Given the description of an element on the screen output the (x, y) to click on. 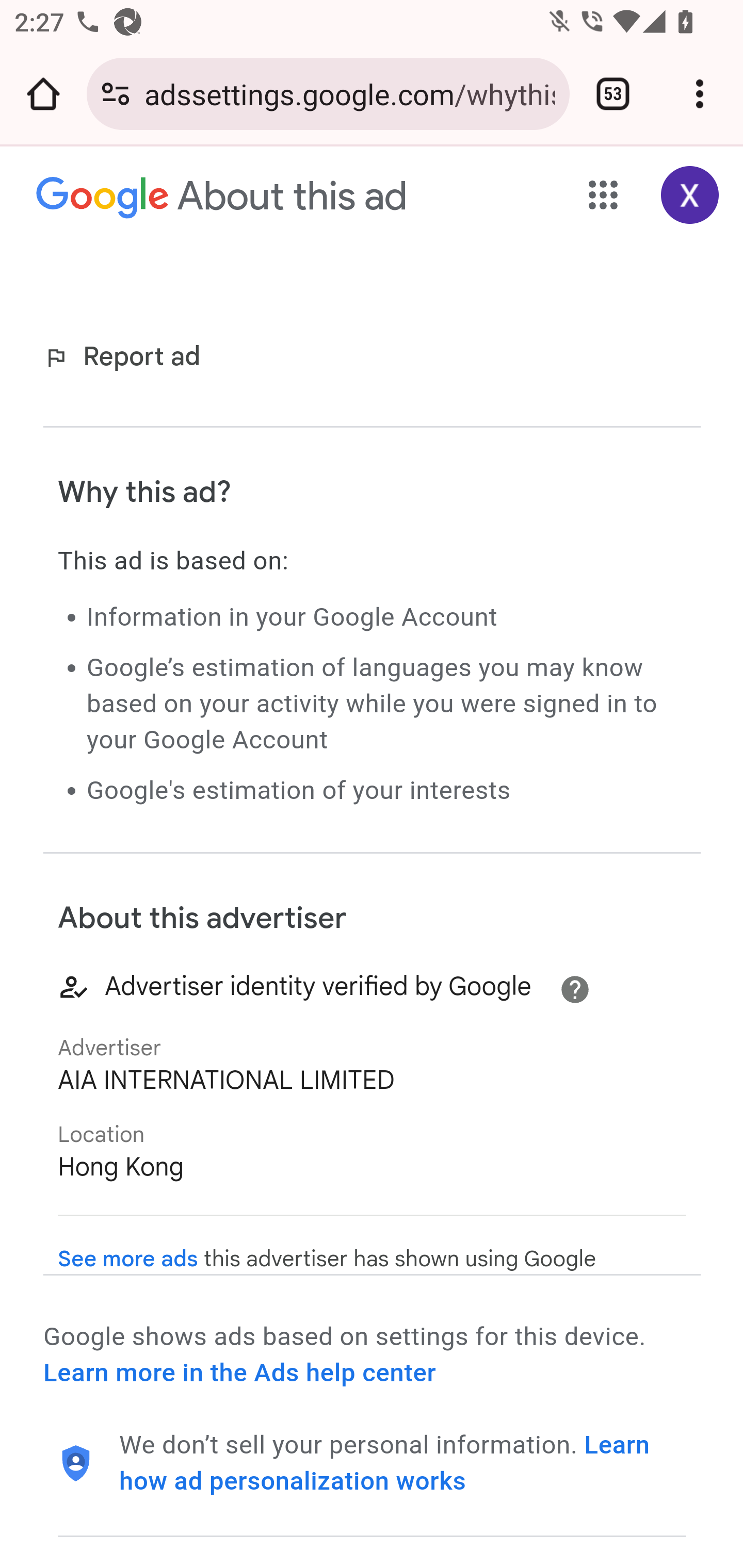
Open the home page (43, 93)
Connection is secure (115, 93)
Switch or close tabs (612, 93)
Customize and control Google Chrome (699, 93)
adssettings.google.com/whythisad (349, 92)
Google apps (603, 195)
Google Account: Xiaoran (zxrappiumtest@gmail.com) (690, 195)
Report ad (opens in new tab) Report ad (126, 357)
See more ads (opens in new tab) See more ads (127, 1258)
Learn more in the Ads help center (239, 1372)
Learn how ad personalization works (384, 1462)
